Given the description of an element on the screen output the (x, y) to click on. 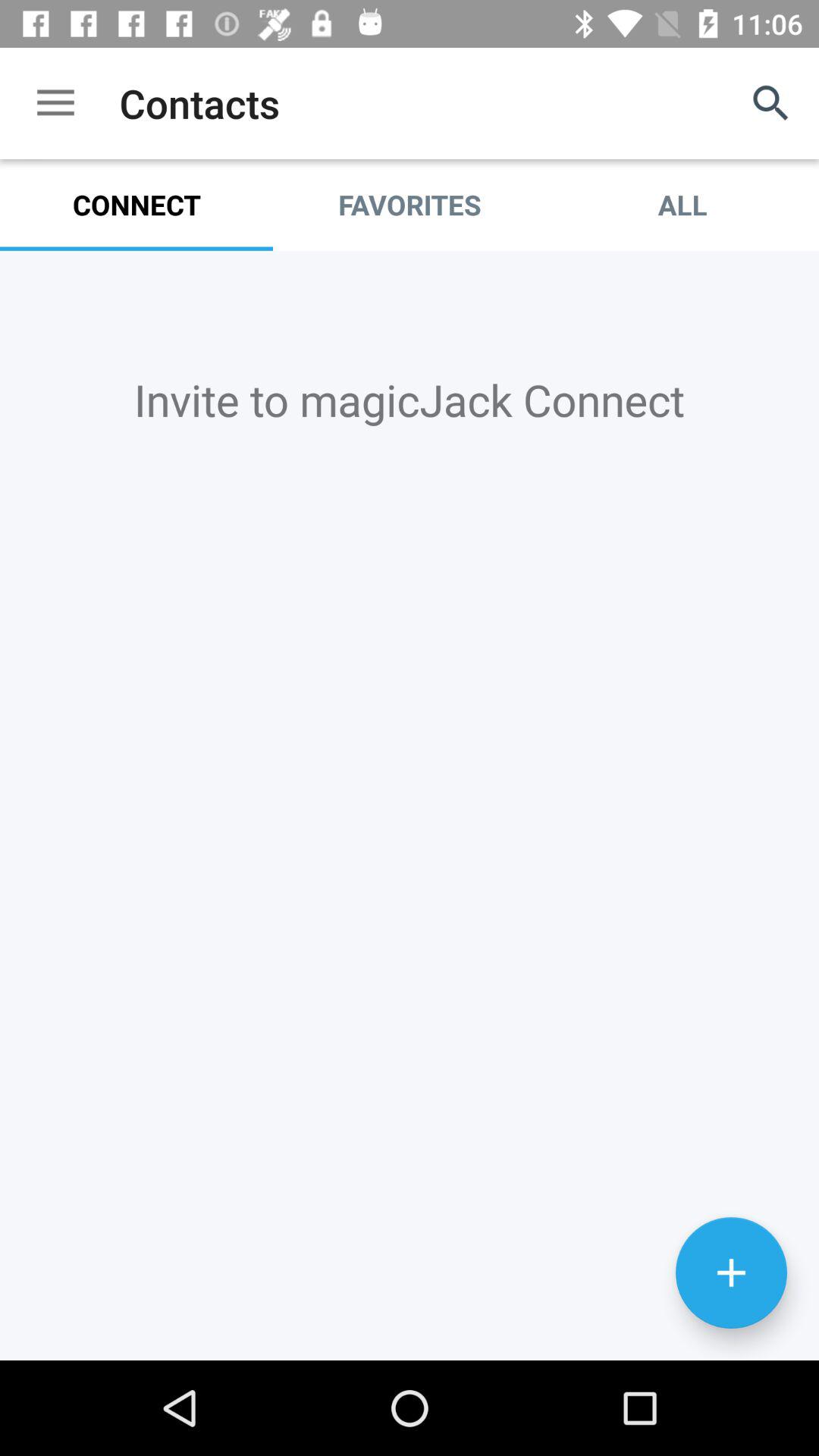
press icon next to favorites (682, 204)
